Given the description of an element on the screen output the (x, y) to click on. 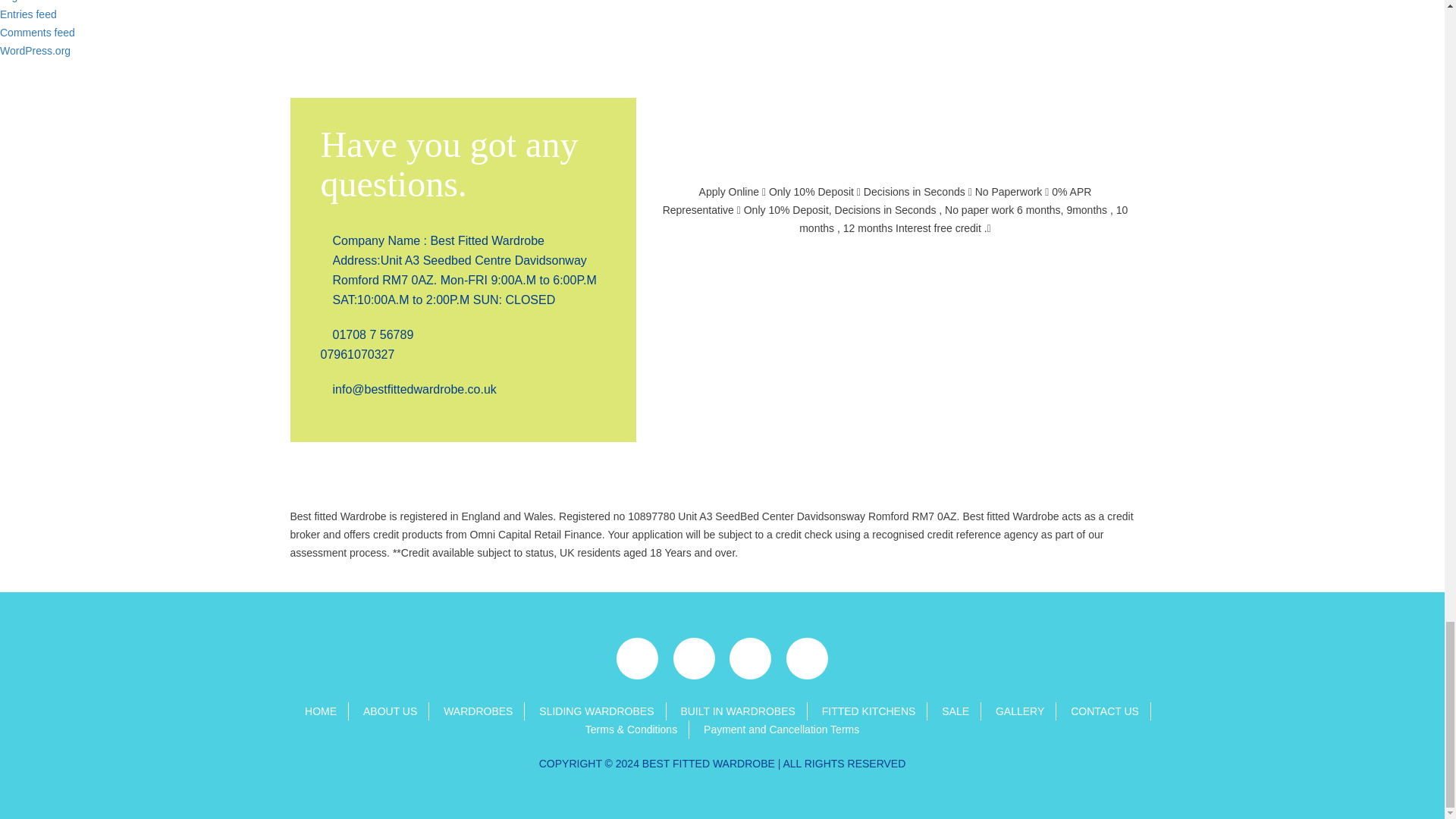
ABOUT US (389, 711)
SALE (955, 711)
SLIDING WARDROBES (595, 711)
HOME (320, 711)
BUILT IN WARDROBES (736, 711)
WARDROBES (478, 711)
FITTED KITCHENS (868, 711)
